Given the description of an element on the screen output the (x, y) to click on. 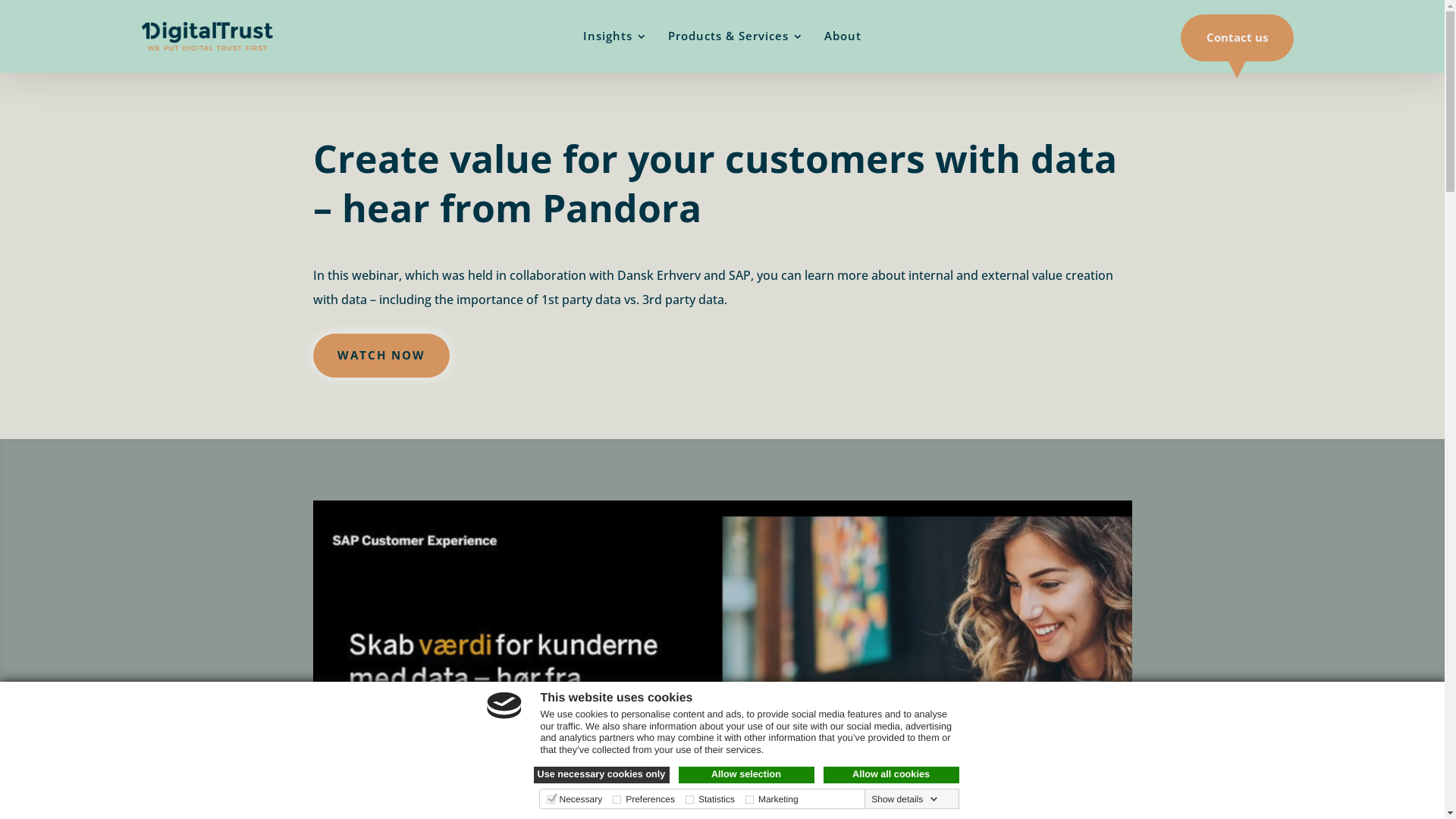
Use necessary cookies only Element type: text (601, 774)
About Element type: text (842, 39)
Insights Element type: text (615, 39)
Allow selection Element type: text (745, 774)
Show details Element type: text (904, 799)
WATCH NOW Element type: text (380, 355)
1DigitalTrust_logo_orangetag Element type: hover (207, 35)
Products & Services Element type: text (735, 39)
Allow all cookies Element type: text (891, 774)
